Given the description of an element on the screen output the (x, y) to click on. 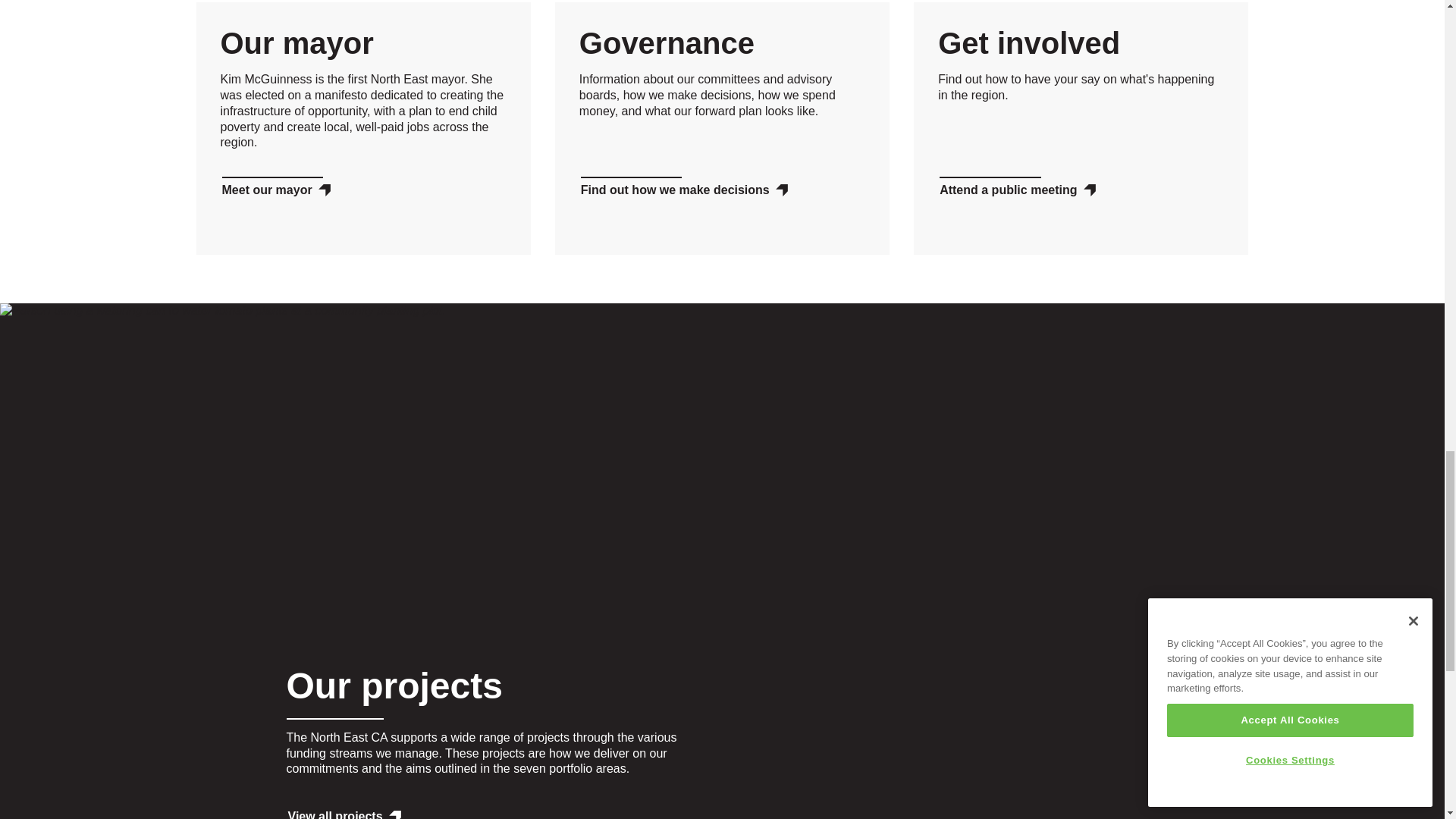
Meet our mayor (275, 190)
Attend a public meeting (1016, 190)
Find out how we make decisions (684, 190)
